Given the description of an element on the screen output the (x, y) to click on. 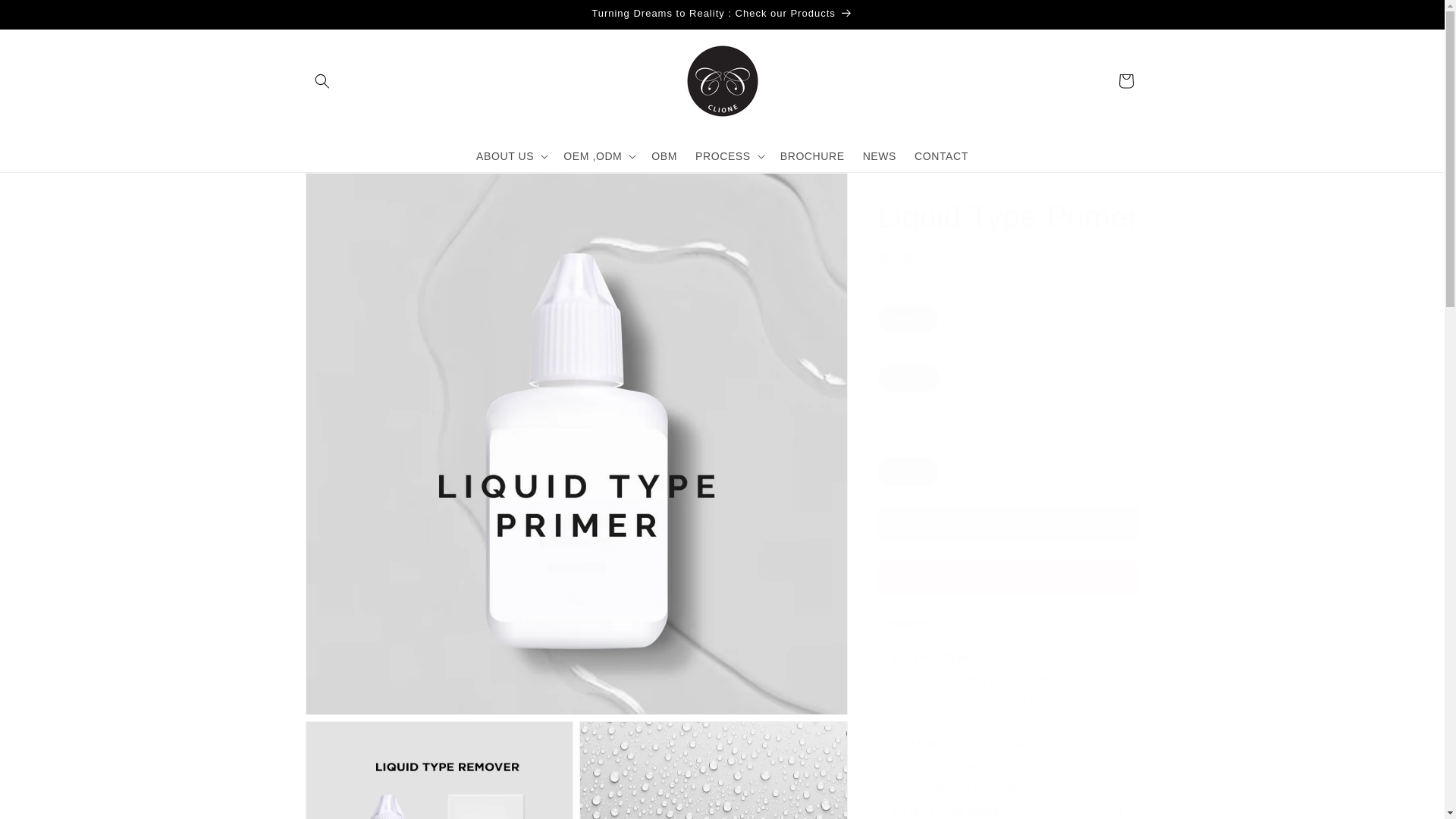
Open media 2 in modal (438, 770)
Open media 3 in modal (713, 770)
Turning Dreams to Reality : Check our Products (721, 14)
Skip to content (45, 17)
